Given the description of an element on the screen output the (x, y) to click on. 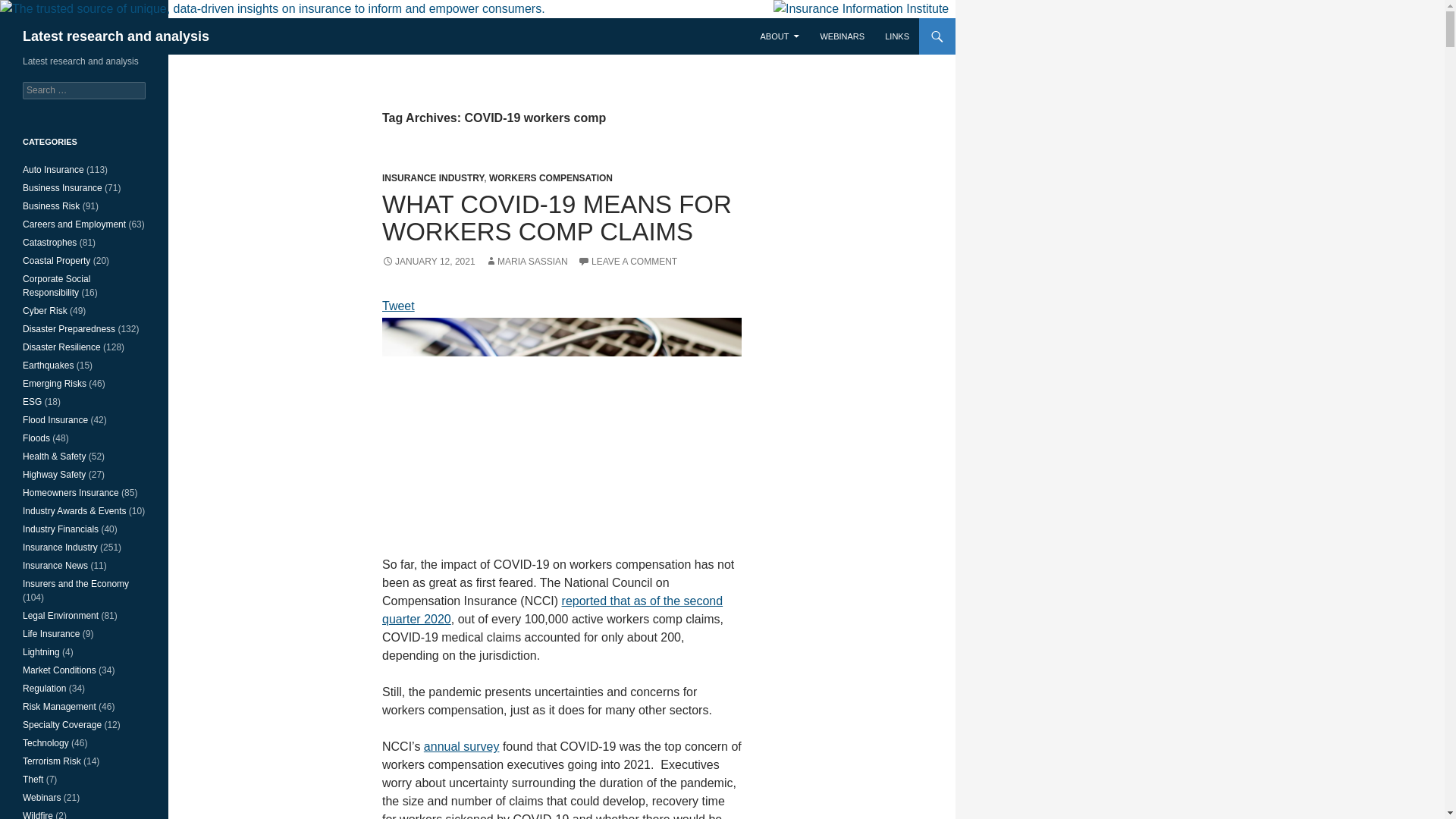
Latest research and analysis (116, 36)
reported that as of the second quarter 2020 (551, 609)
LINKS (897, 36)
WHAT COVID-19 MEANS FOR WORKERS COMP CLAIMS (556, 217)
LEAVE A COMMENT (627, 261)
annual survey (461, 746)
WEBINARS (841, 36)
Tweet (397, 305)
